Given the description of an element on the screen output the (x, y) to click on. 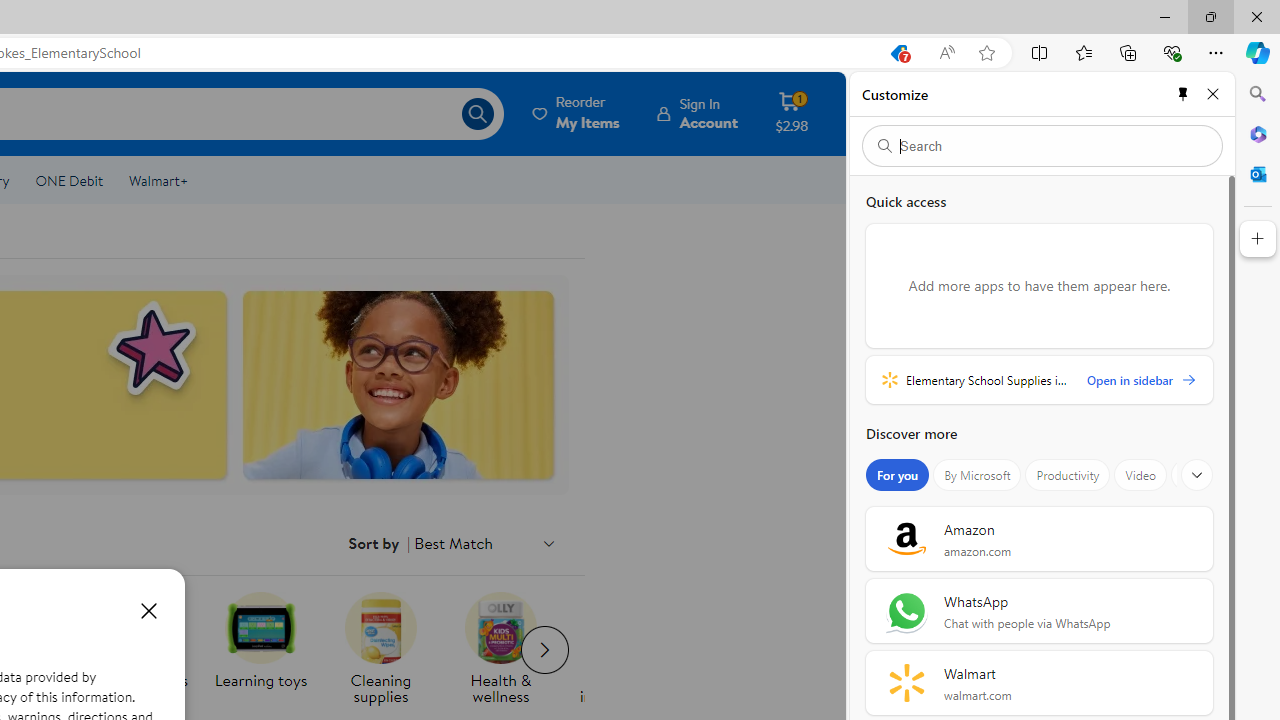
This site has coupons! Shopping in Microsoft Edge, 7 (898, 53)
Show more (1197, 475)
By Microsoft (977, 475)
For you (898, 475)
